Given the description of an element on the screen output the (x, y) to click on. 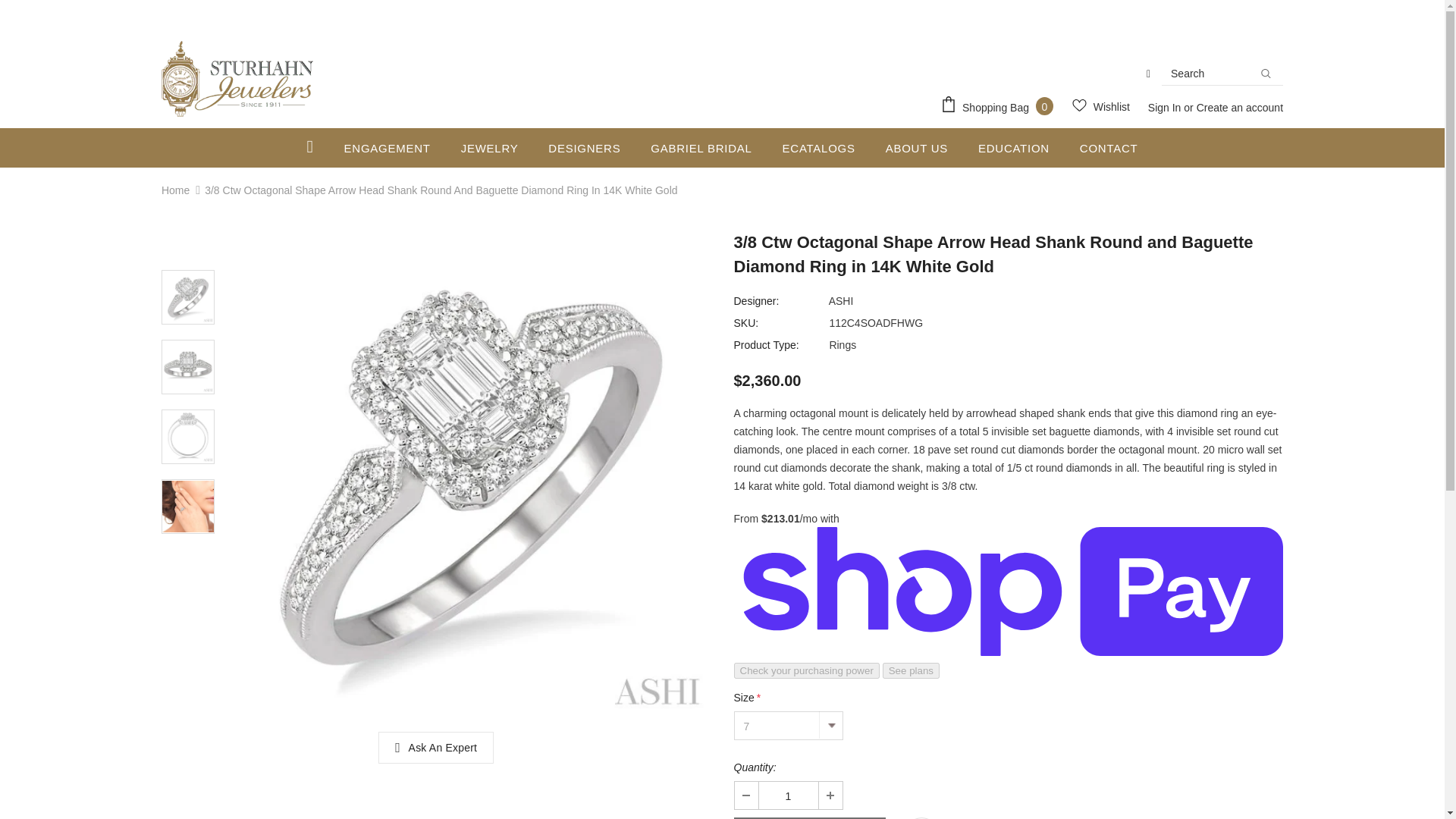
1 (787, 795)
